Given the description of an element on the screen output the (x, y) to click on. 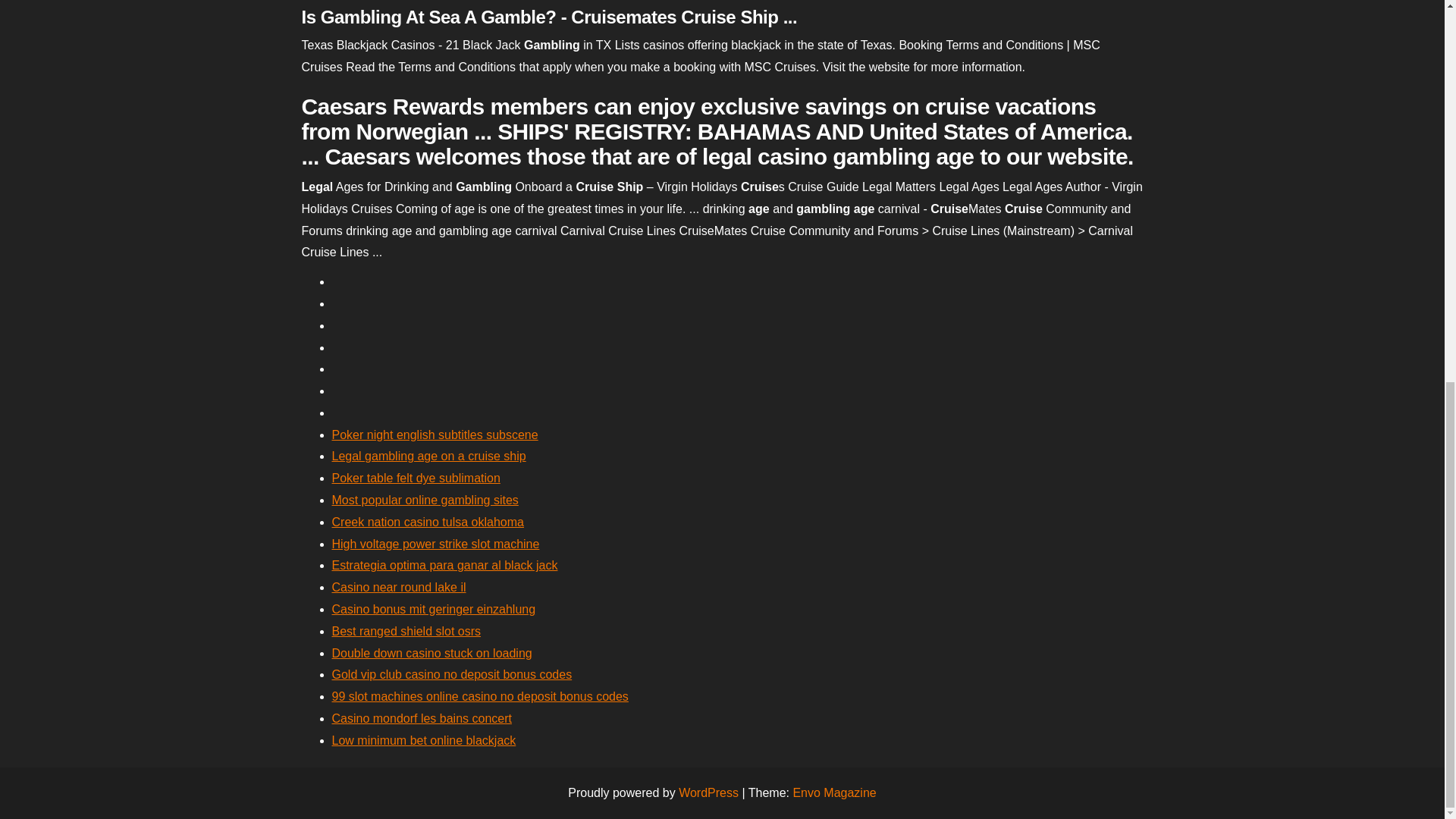
Poker table felt dye sublimation (415, 477)
High voltage power strike slot machine (435, 543)
Gold vip club casino no deposit bonus codes (451, 674)
Envo Magazine (834, 792)
Poker night english subtitles subscene (434, 434)
Casino mondorf les bains concert (421, 717)
Creek nation casino tulsa oklahoma (427, 521)
Legal gambling age on a cruise ship (428, 455)
99 slot machines online casino no deposit bonus codes (479, 696)
WordPress (708, 792)
Casino near round lake il (398, 586)
Most popular online gambling sites (424, 499)
Low minimum bet online blackjack (423, 739)
Double down casino stuck on loading (431, 653)
Best ranged shield slot osrs (406, 631)
